Given the description of an element on the screen output the (x, y) to click on. 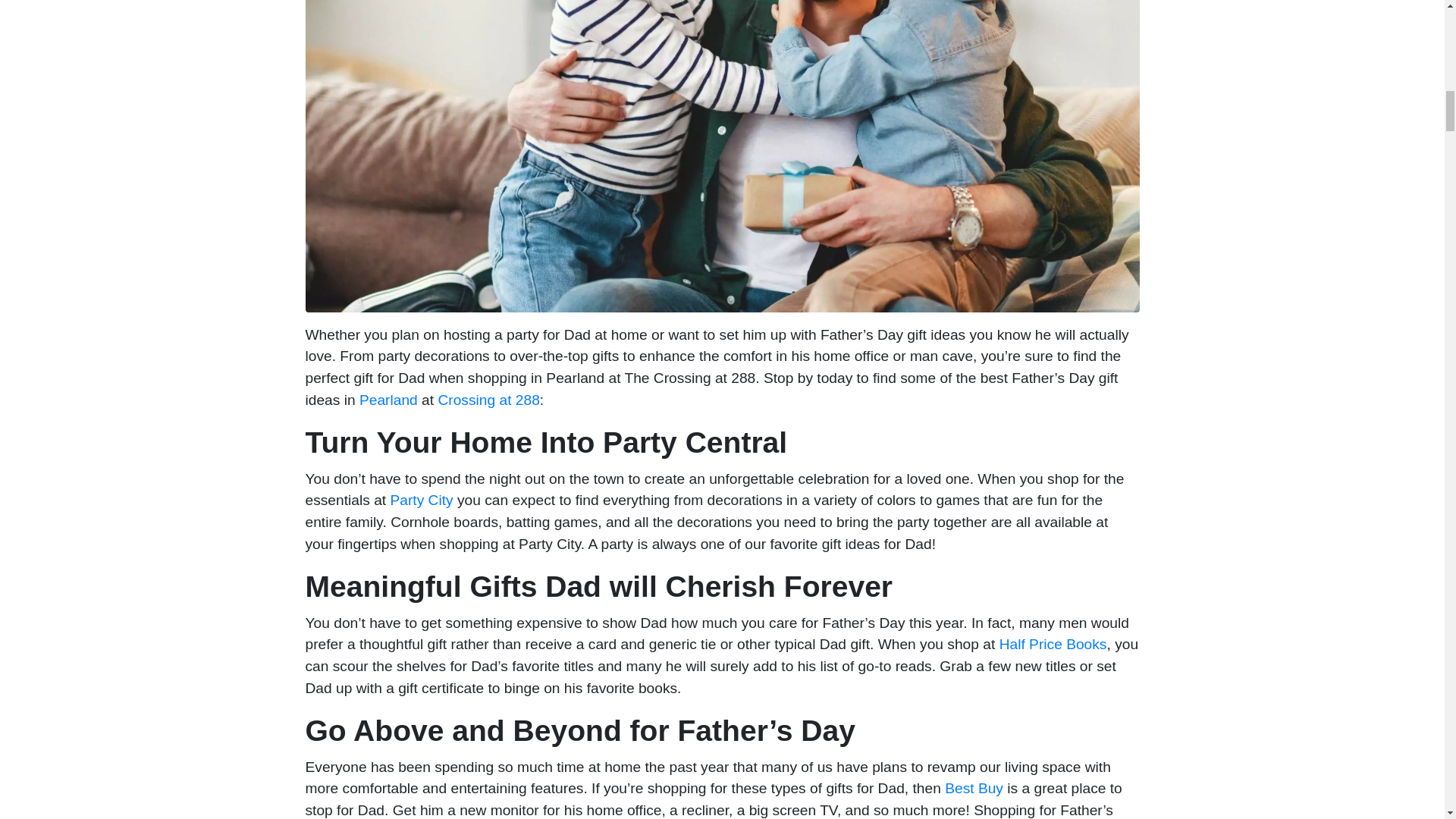
Pearland (386, 399)
Party City (421, 499)
Crossing at 288 (488, 399)
